Given the description of an element on the screen output the (x, y) to click on. 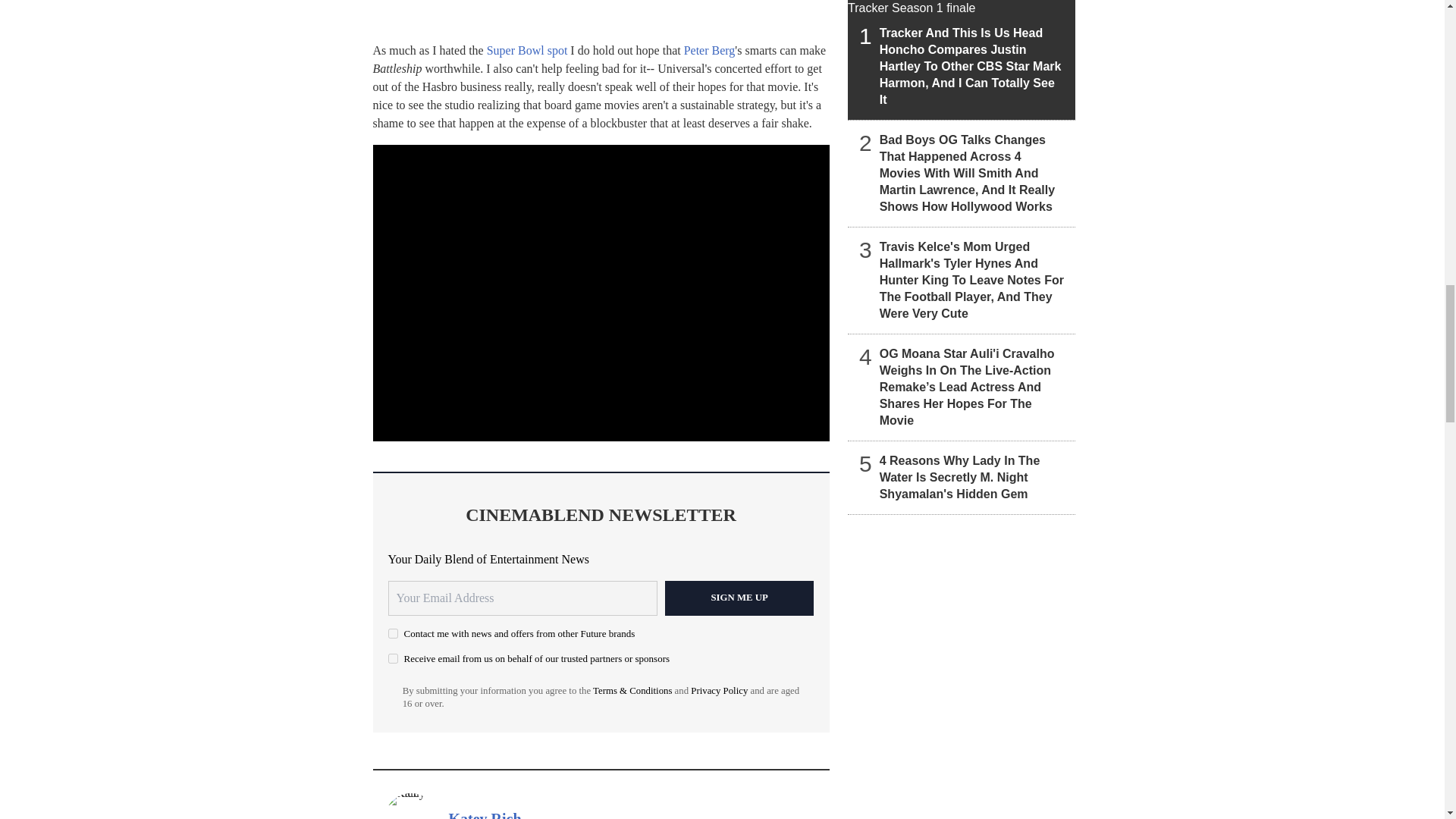
on (392, 633)
on (392, 658)
Sign me up (739, 597)
